Given the description of an element on the screen output the (x, y) to click on. 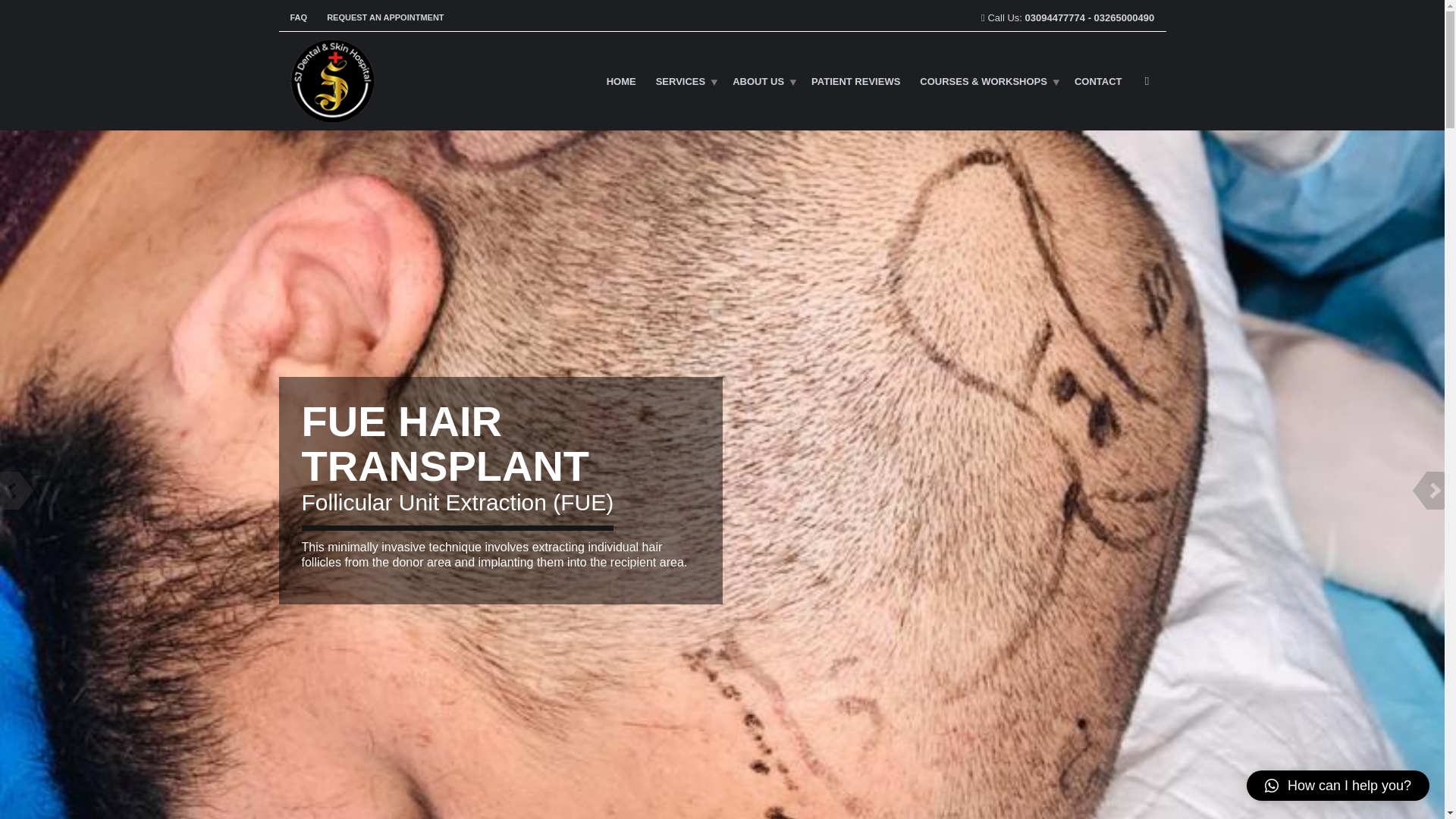
HOME (621, 80)
REQUEST AN APPOINTMENT (380, 17)
SERVICES (684, 80)
CONTACT (1098, 80)
Services (684, 80)
FAQ (303, 17)
FAQ (303, 17)
Request an Appointment (380, 17)
PATIENT REVIEWS (856, 80)
ABOUT US (762, 80)
